Given the description of an element on the screen output the (x, y) to click on. 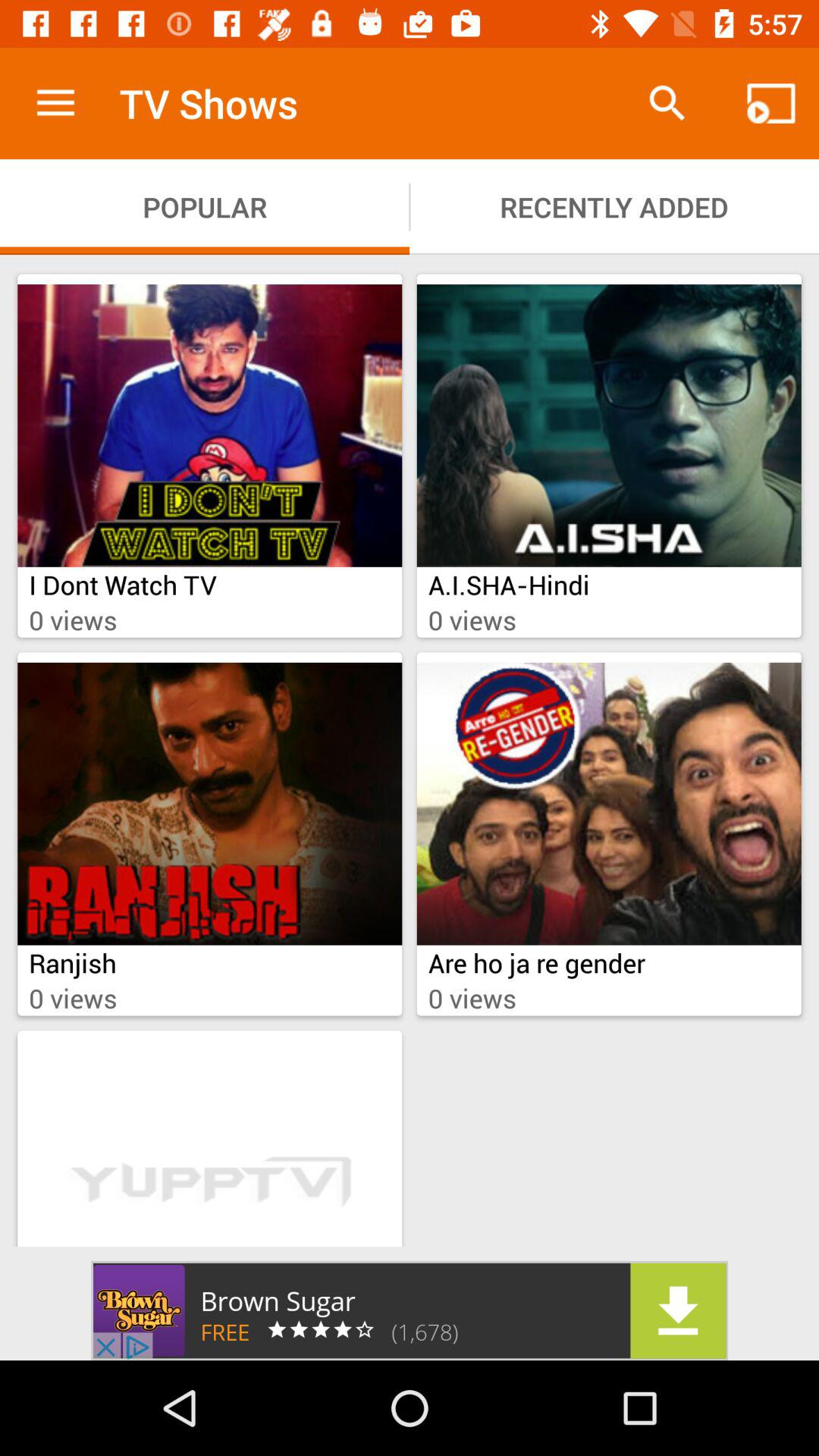
select image which is above ranjish on a page (209, 803)
select the image in which it says yupptv (209, 1143)
select the button right to the popular button (614, 206)
go to the first row first column (209, 425)
click on the i dont watch tv show (209, 455)
